Given the description of an element on the screen output the (x, y) to click on. 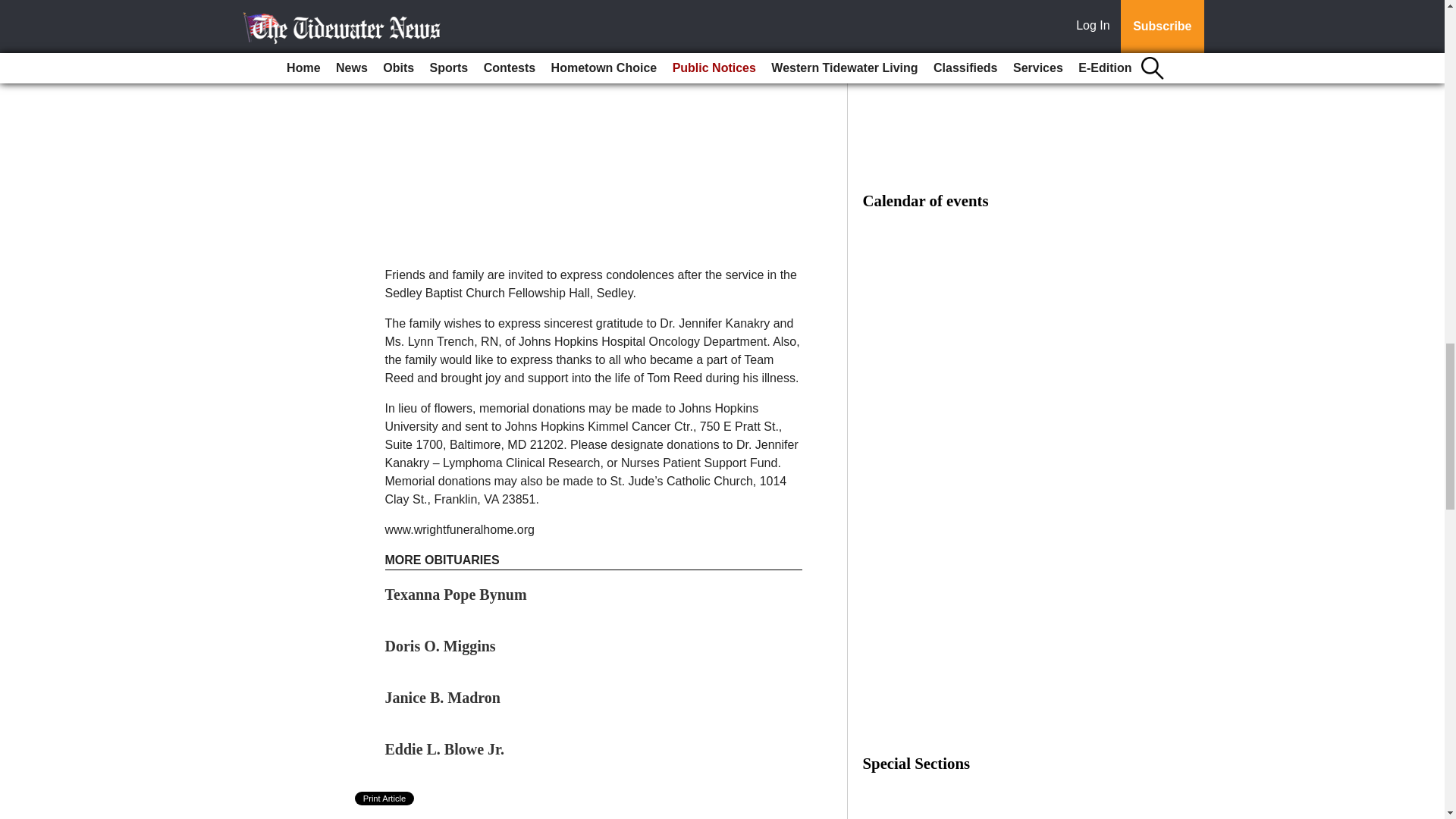
Texanna Pope Bynum (456, 594)
Eddie L. Blowe Jr. (445, 749)
Print Article (384, 798)
Janice B. Madron (442, 697)
Doris O. Miggins (440, 646)
Texanna Pope Bynum (456, 594)
Doris O. Miggins (440, 646)
Janice B. Madron (442, 697)
Eddie L. Blowe Jr. (445, 749)
